Given the description of an element on the screen output the (x, y) to click on. 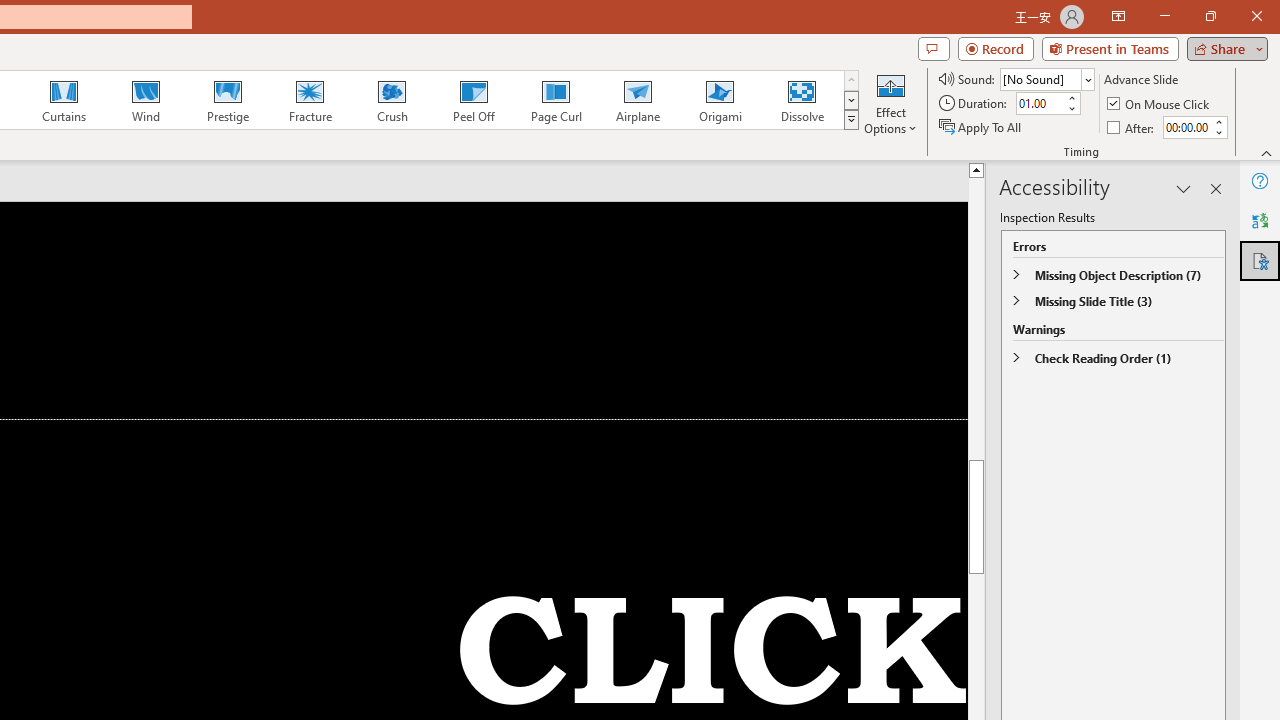
Dissolve (802, 100)
Peel Off (473, 100)
On Mouse Click (1159, 103)
Airplane (637, 100)
Sound (1046, 78)
